Given the description of an element on the screen output the (x, y) to click on. 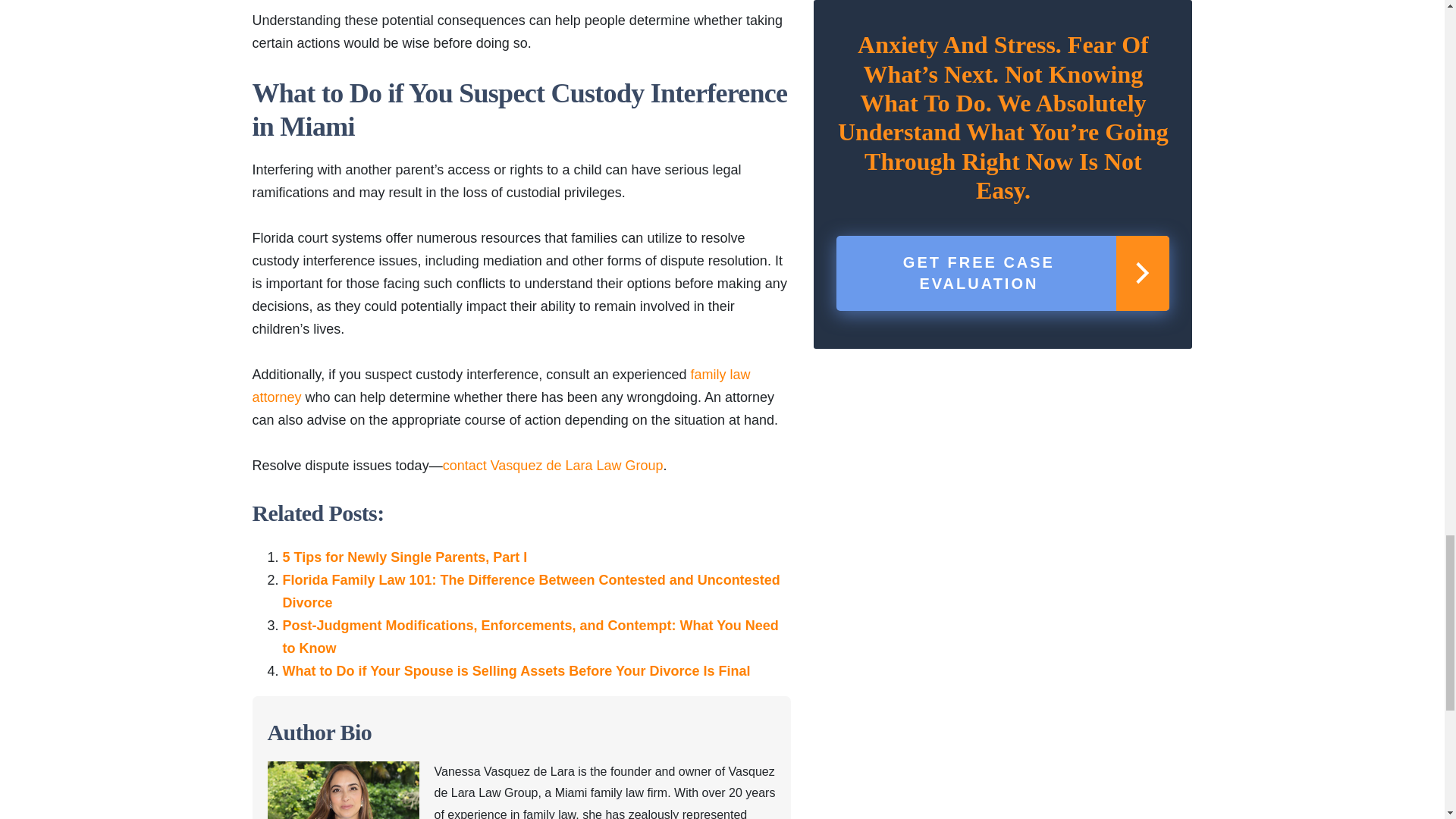
5 Tips for Newly Single Parents, Part I (404, 557)
